Given the description of an element on the screen output the (x, y) to click on. 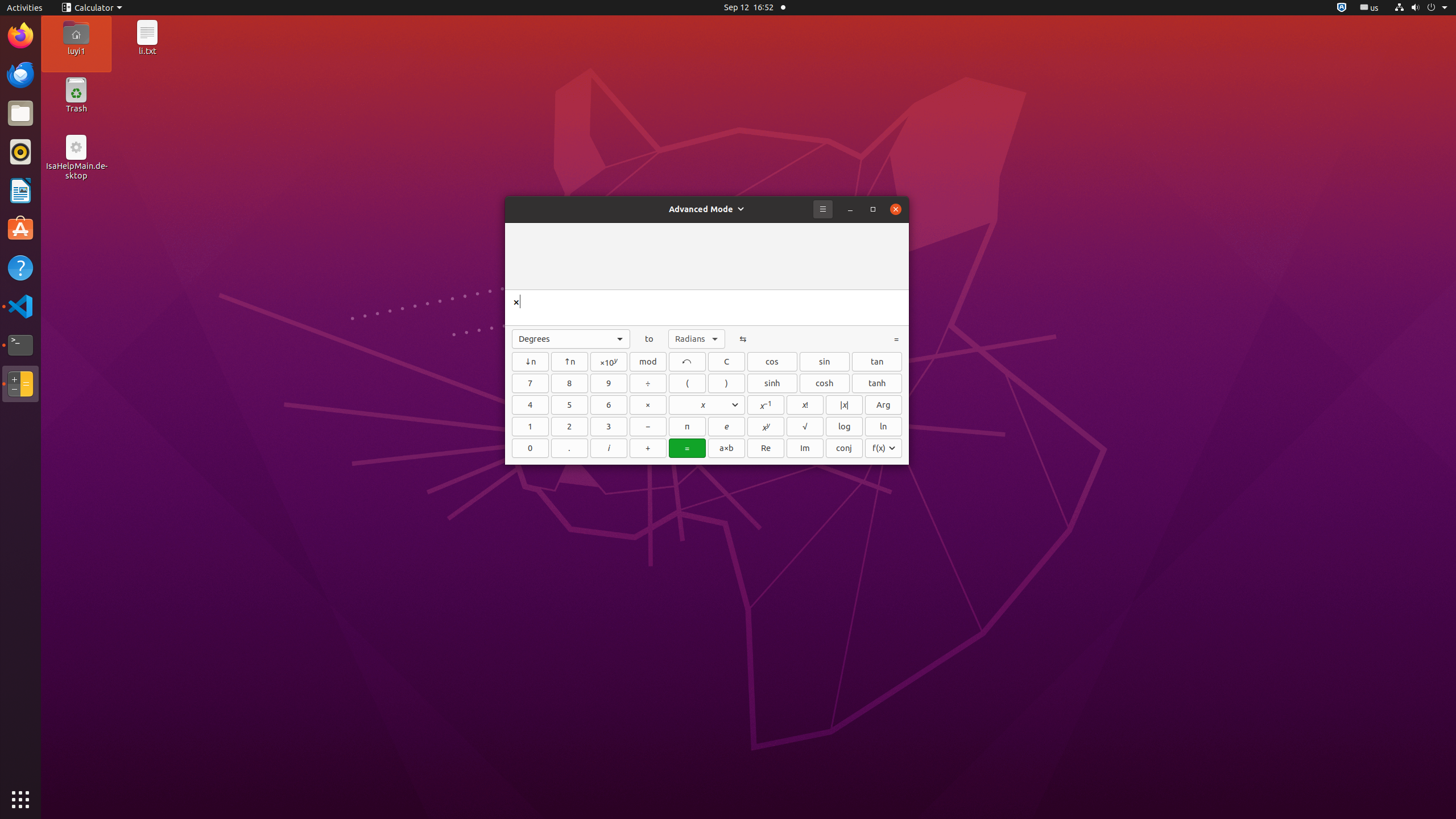
5 Element type: push-button (569, 404)
cos Element type: push-button (772, 361)
Store Element type: toggle-button (883, 447)
Mode selection Element type: toggle-button (706, 209)
Superscript Element type: toggle-button (569, 361)
